Given the description of an element on the screen output the (x, y) to click on. 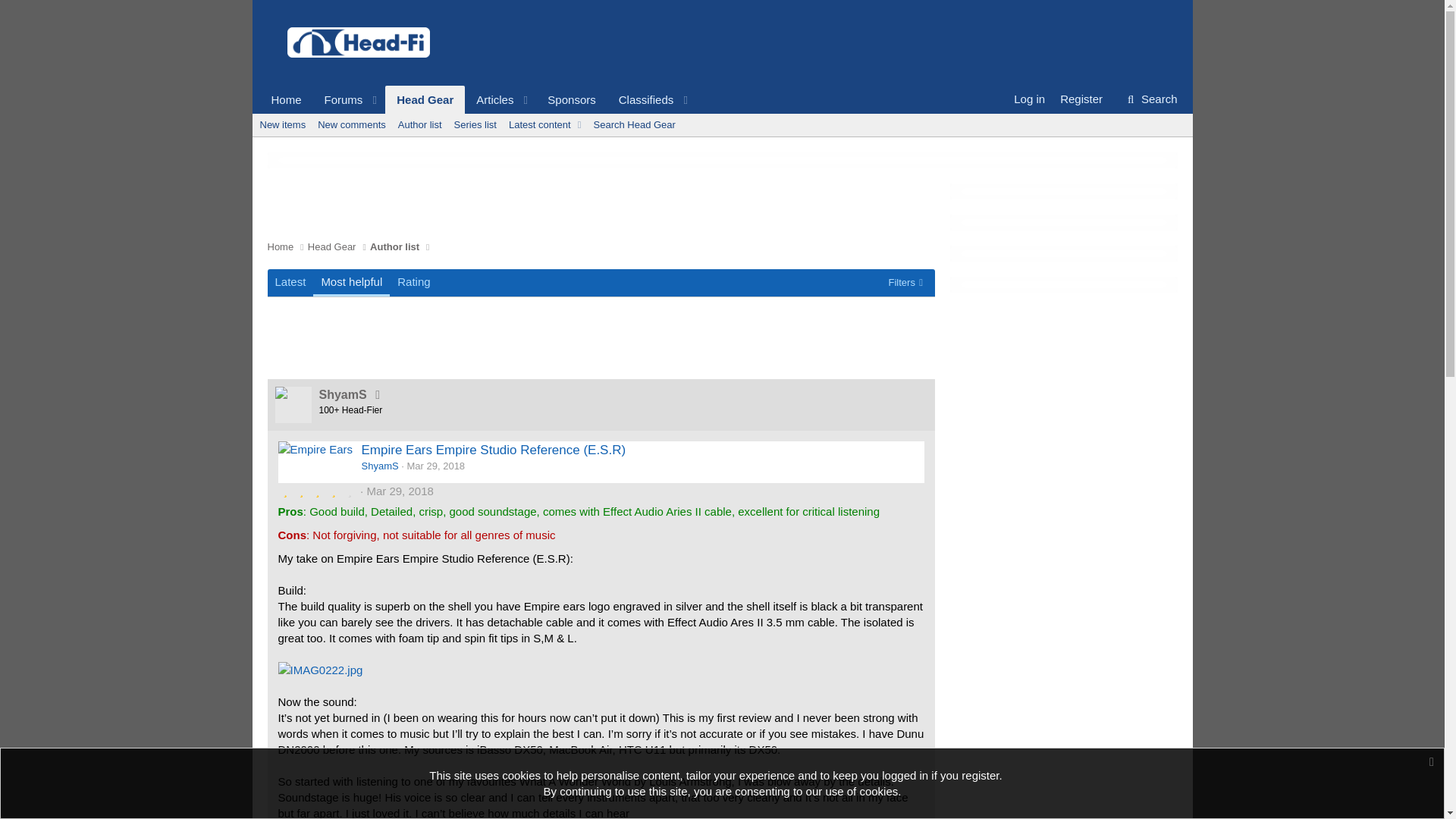
Log in (1029, 99)
Classifieds (641, 99)
New items (282, 124)
Home (286, 99)
Latest Most helpful Rating (352, 282)
Head Gear (424, 99)
Register (477, 99)
Search (1080, 99)
